Given the description of an element on the screen output the (x, y) to click on. 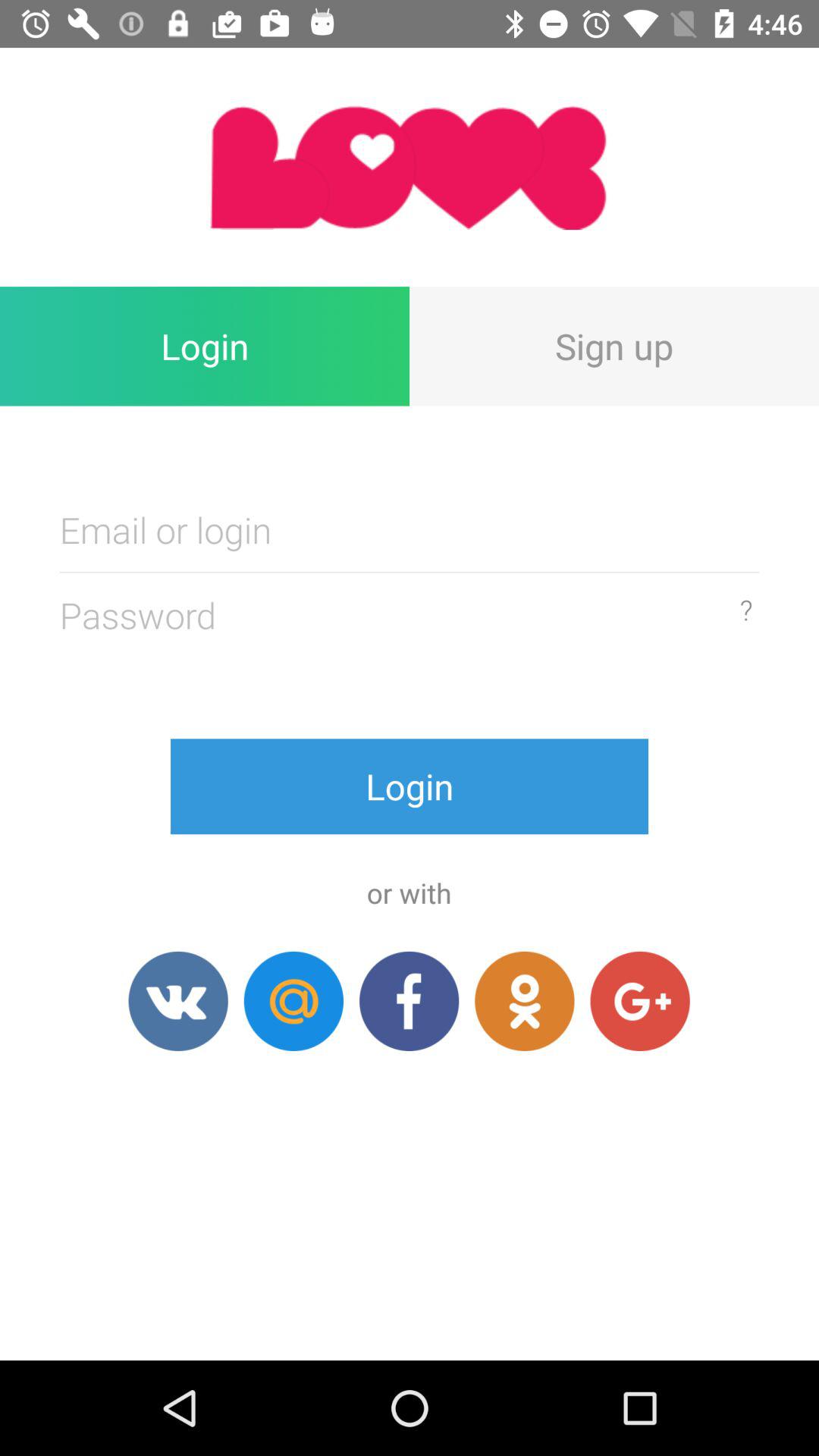
login in with google (639, 1001)
